Given the description of an element on the screen output the (x, y) to click on. 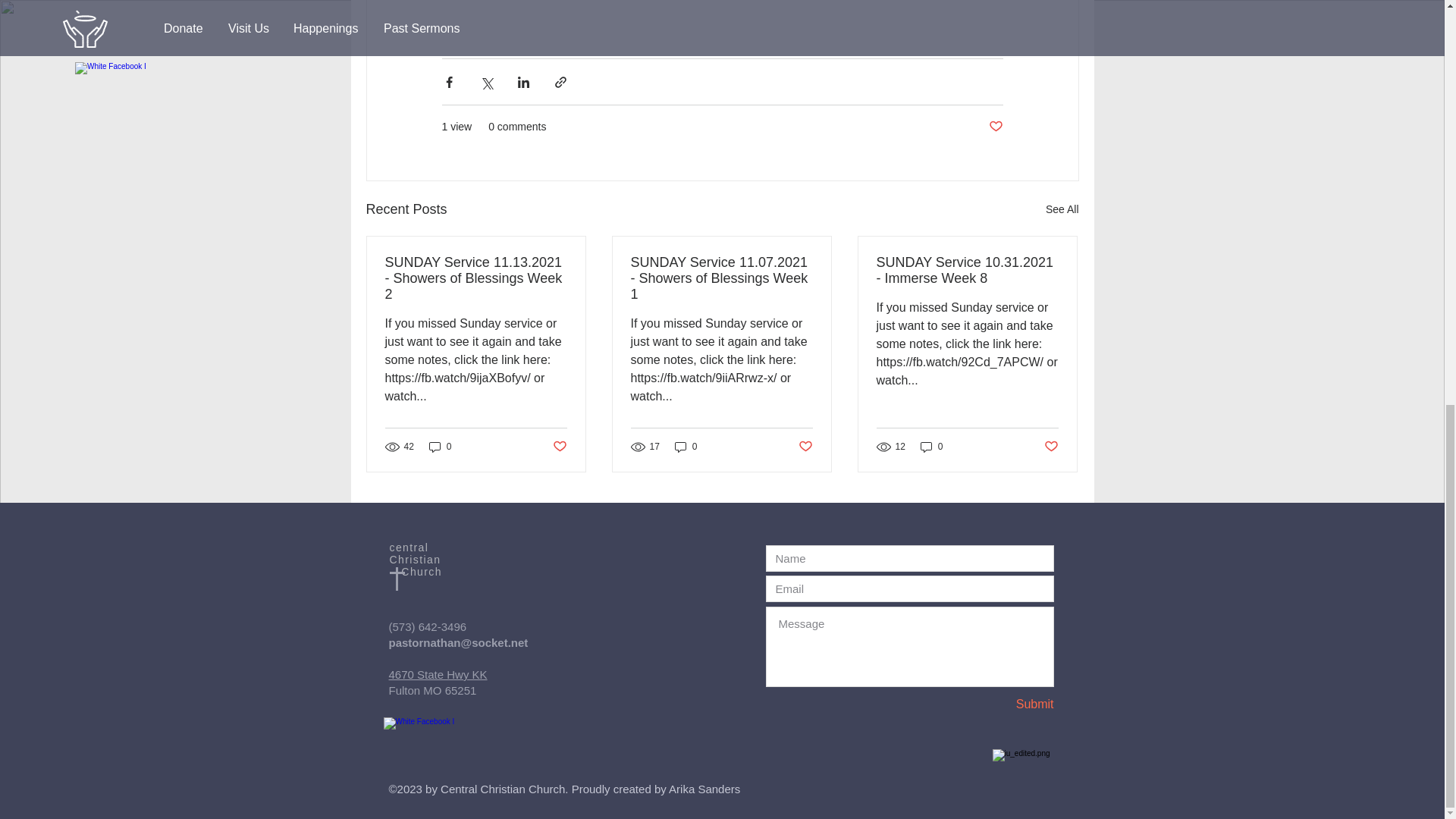
0 (931, 446)
0 (440, 446)
0 (685, 446)
SUNDAY Service 11.13.2021 - Showers of Blessings Week 2 (476, 278)
Submit (1000, 704)
Post not marked as liked (558, 446)
SUNDAY Service 10.31.2021 - Immerse Week 8 (967, 270)
Post not marked as liked (804, 446)
SUNDAY Service 11.07.2021 - Showers of Blessings Week 1 (721, 278)
Post not marked as liked (1050, 446)
